Given the description of an element on the screen output the (x, y) to click on. 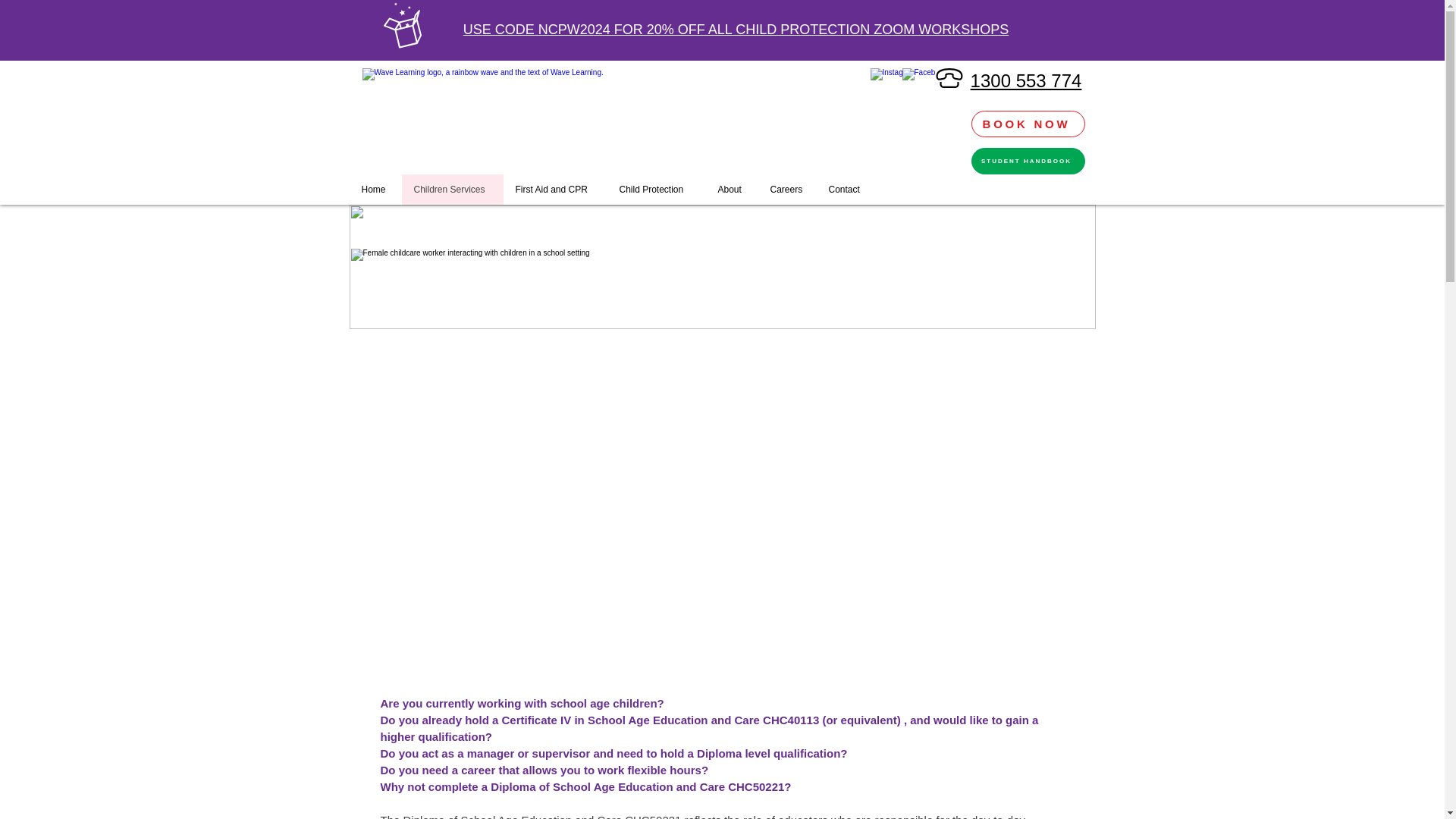
Children Services (452, 189)
About (730, 189)
Home (375, 189)
Careers (787, 189)
Child Protection (655, 189)
First Aid and CPR (555, 189)
BOOK NOW (1027, 123)
Contact (845, 189)
1300 553 774 (1026, 80)
STUDENT HANDBOOK (1027, 161)
